Given the description of an element on the screen output the (x, y) to click on. 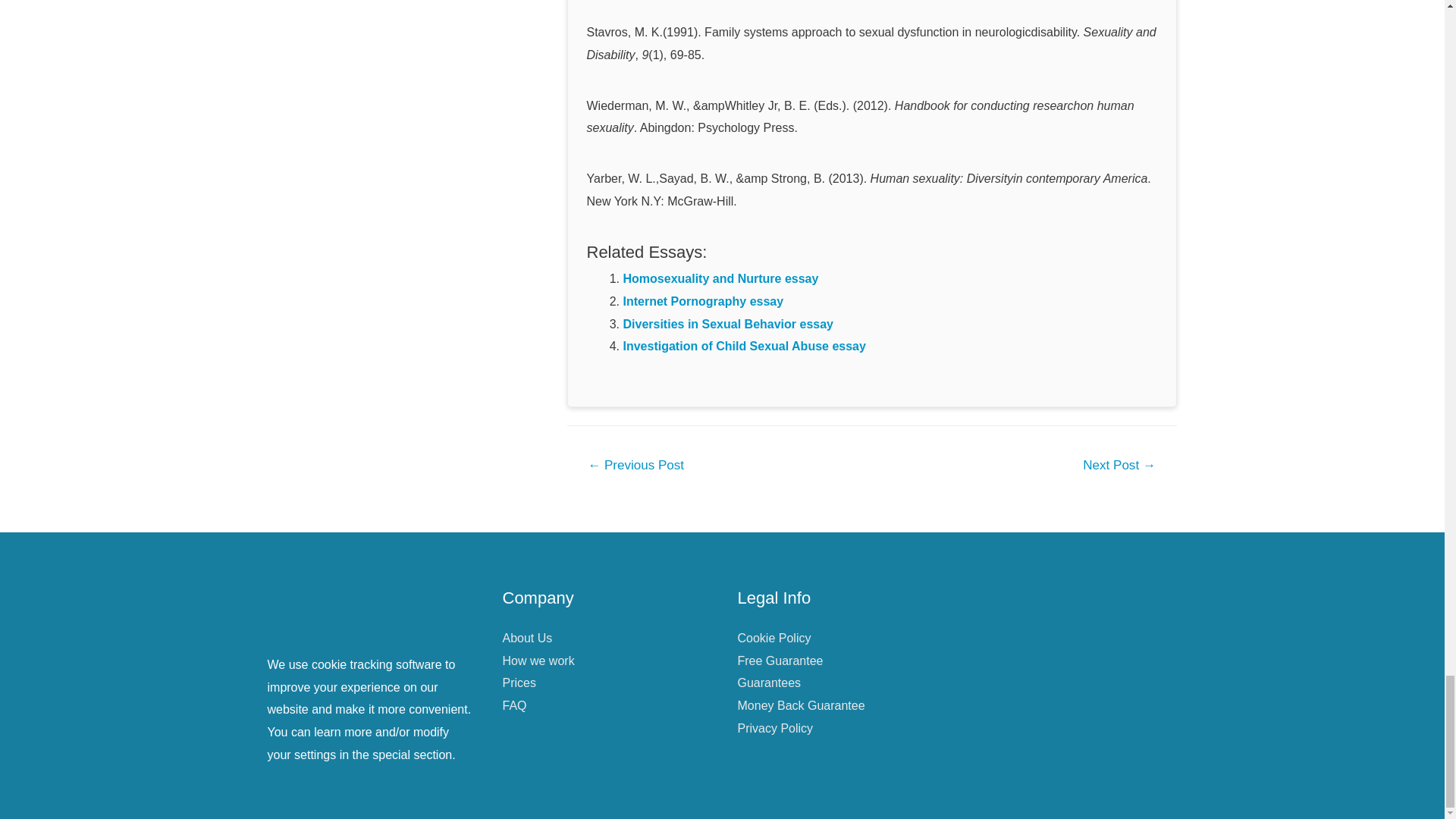
Internet Pornography essay (703, 300)
Prices (518, 682)
Cookie Policy (773, 637)
Guarantees (768, 682)
Investigation of Child Sexual Abuse essay (744, 345)
How we work (537, 660)
Homosexuality and Nurture essay (720, 278)
Internet Pornography essay (703, 300)
Homosexuality and Nurture essay (720, 278)
About Us (526, 637)
